Given the description of an element on the screen output the (x, y) to click on. 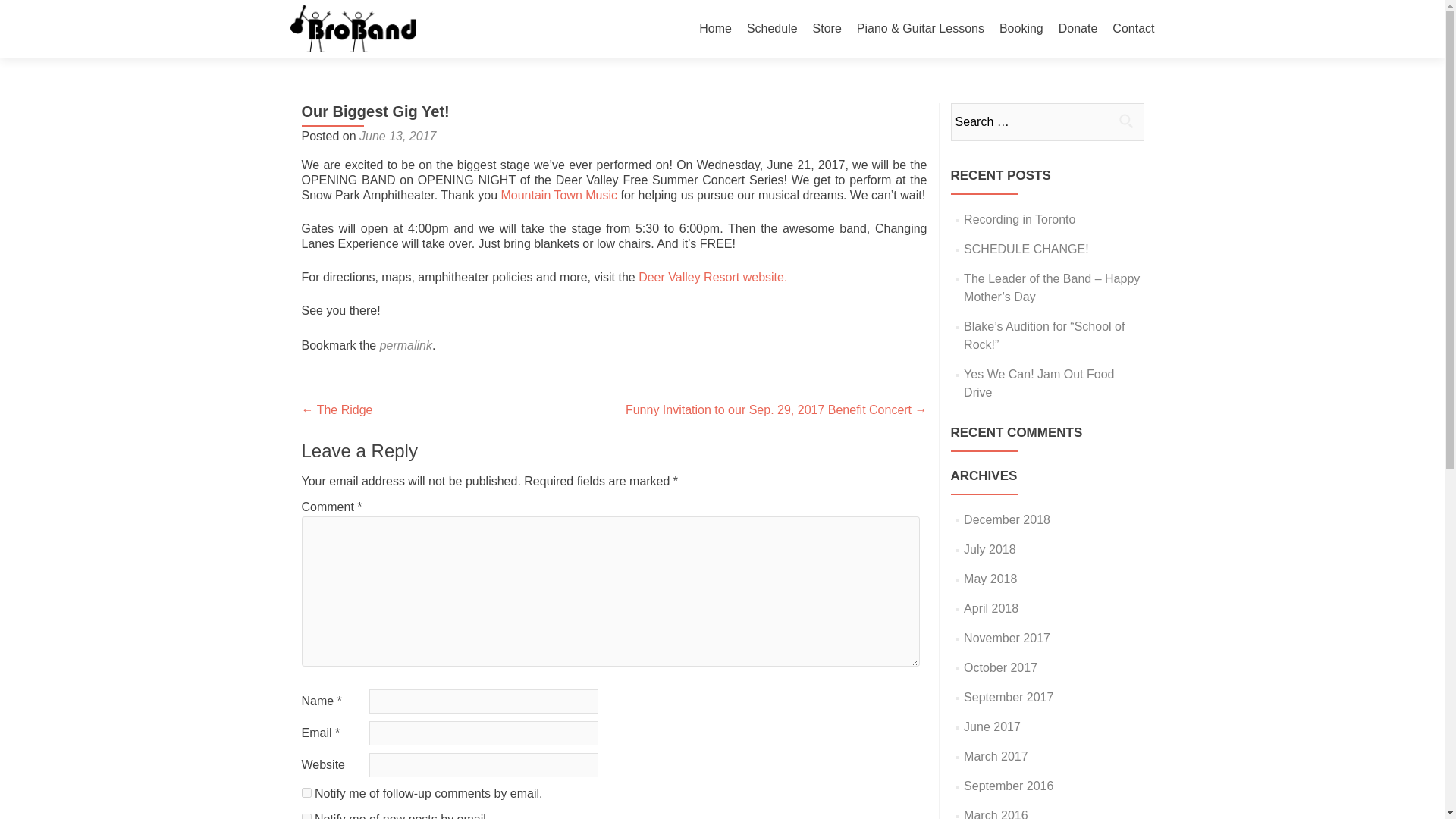
Donate (1077, 28)
March 2016 (995, 814)
April 2018 (990, 608)
Store (826, 28)
September 2016 (1007, 785)
October 2017 (999, 667)
Schedule (771, 28)
November 2017 (1006, 637)
Home (715, 28)
permalink (406, 345)
December 2018 (1006, 519)
September 2017 (1007, 697)
June 13, 2017 (397, 135)
Search (1125, 120)
Search (1125, 120)
